Given the description of an element on the screen output the (x, y) to click on. 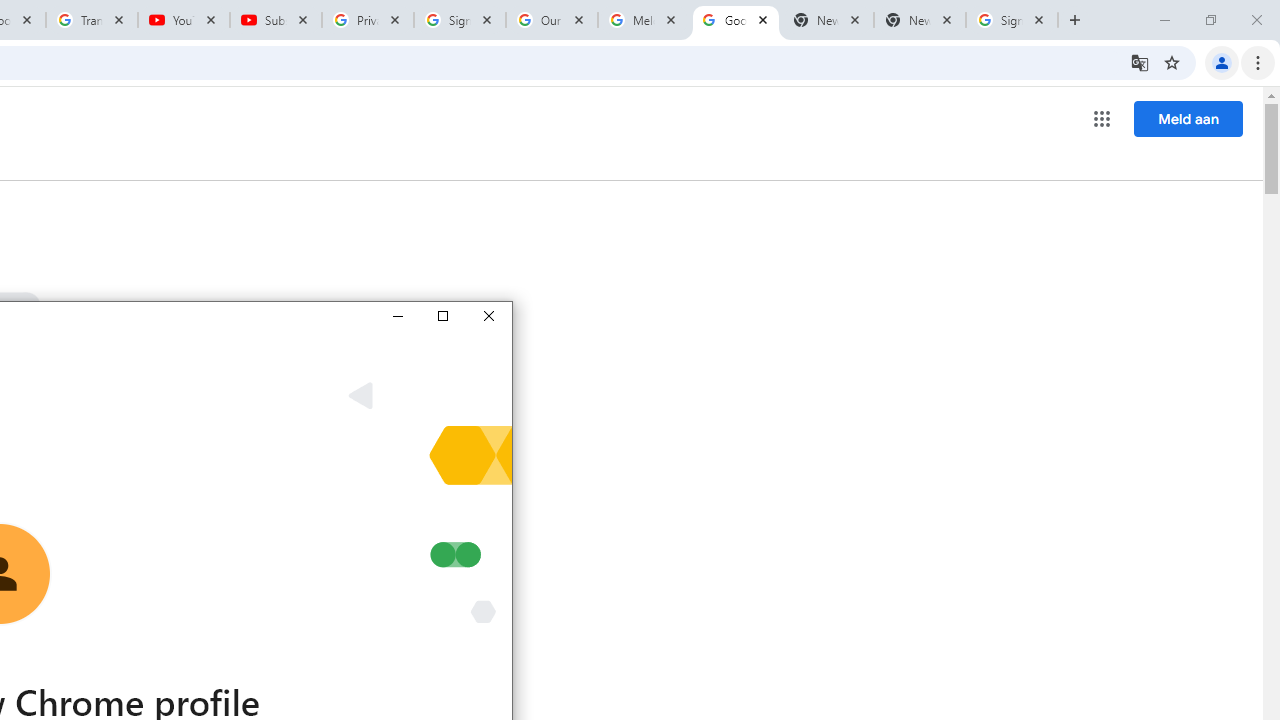
Maximize (442, 316)
